Given the description of an element on the screen output the (x, y) to click on. 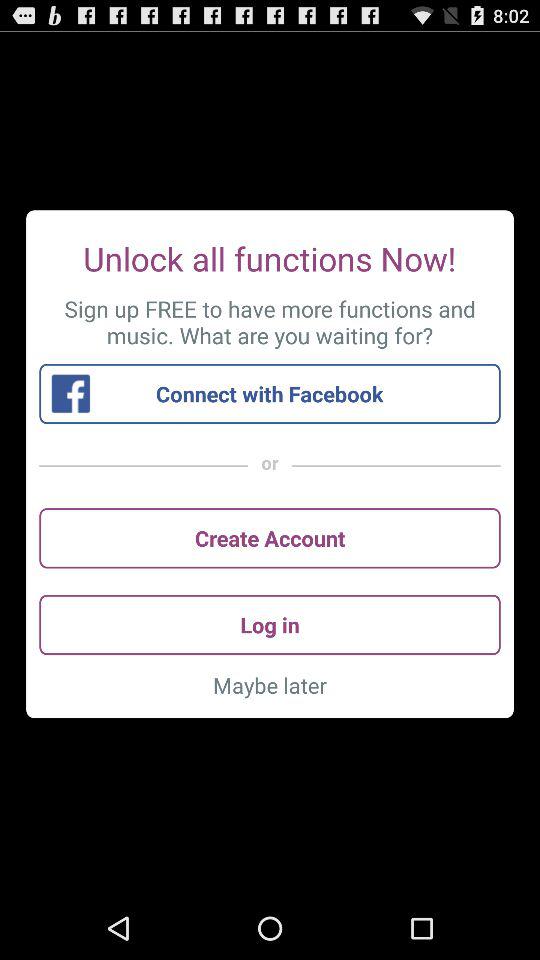
flip until maybe later button (269, 685)
